Given the description of an element on the screen output the (x, y) to click on. 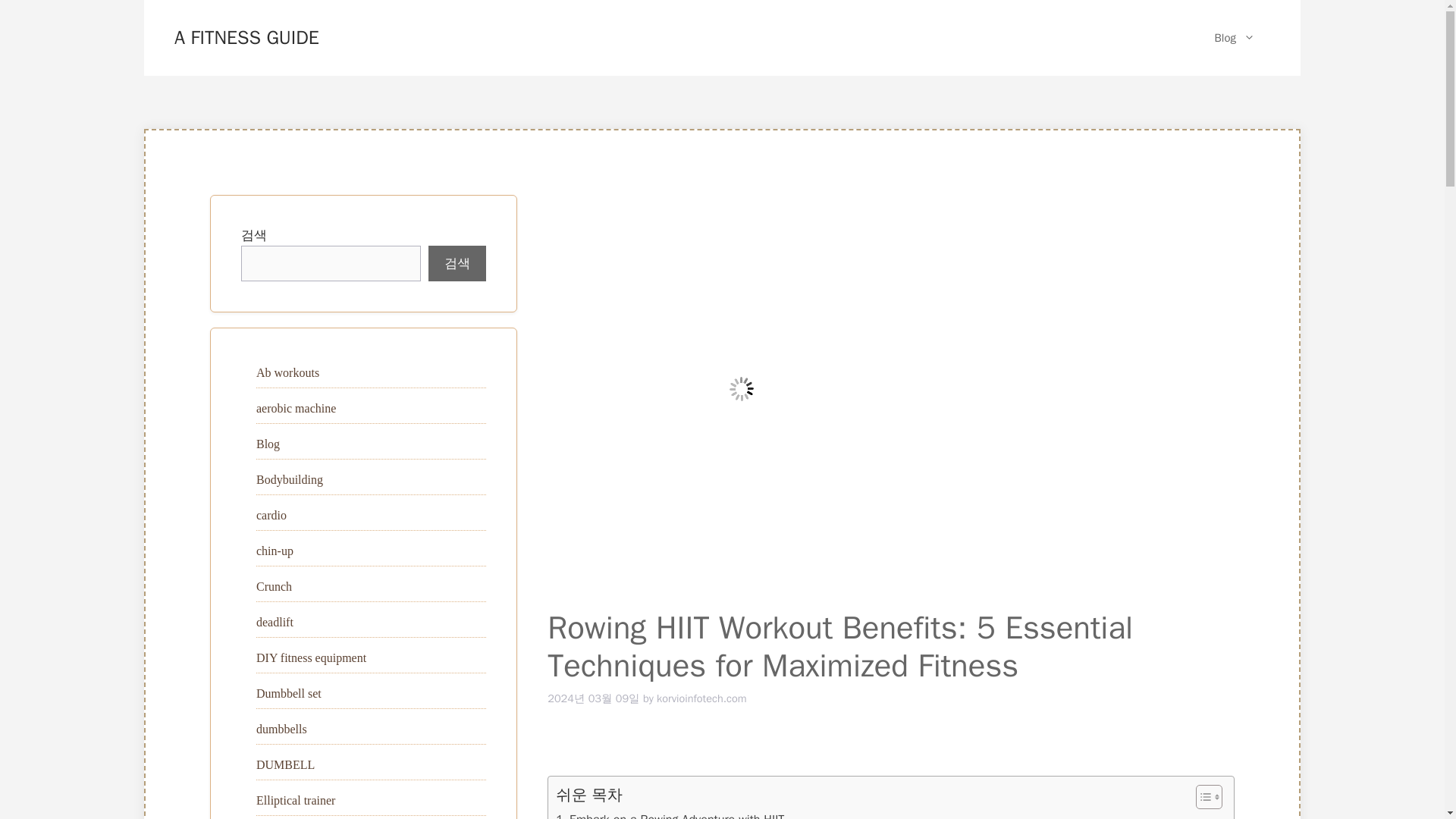
Embark on a Rowing Adventure with HIIT (670, 814)
Embark on a Rowing Adventure with HIIT (670, 814)
A FITNESS GUIDE (246, 37)
korvioinfotech.com (701, 698)
View all posts by korvioinfotech.com (701, 698)
Blog (1234, 37)
